Given the description of an element on the screen output the (x, y) to click on. 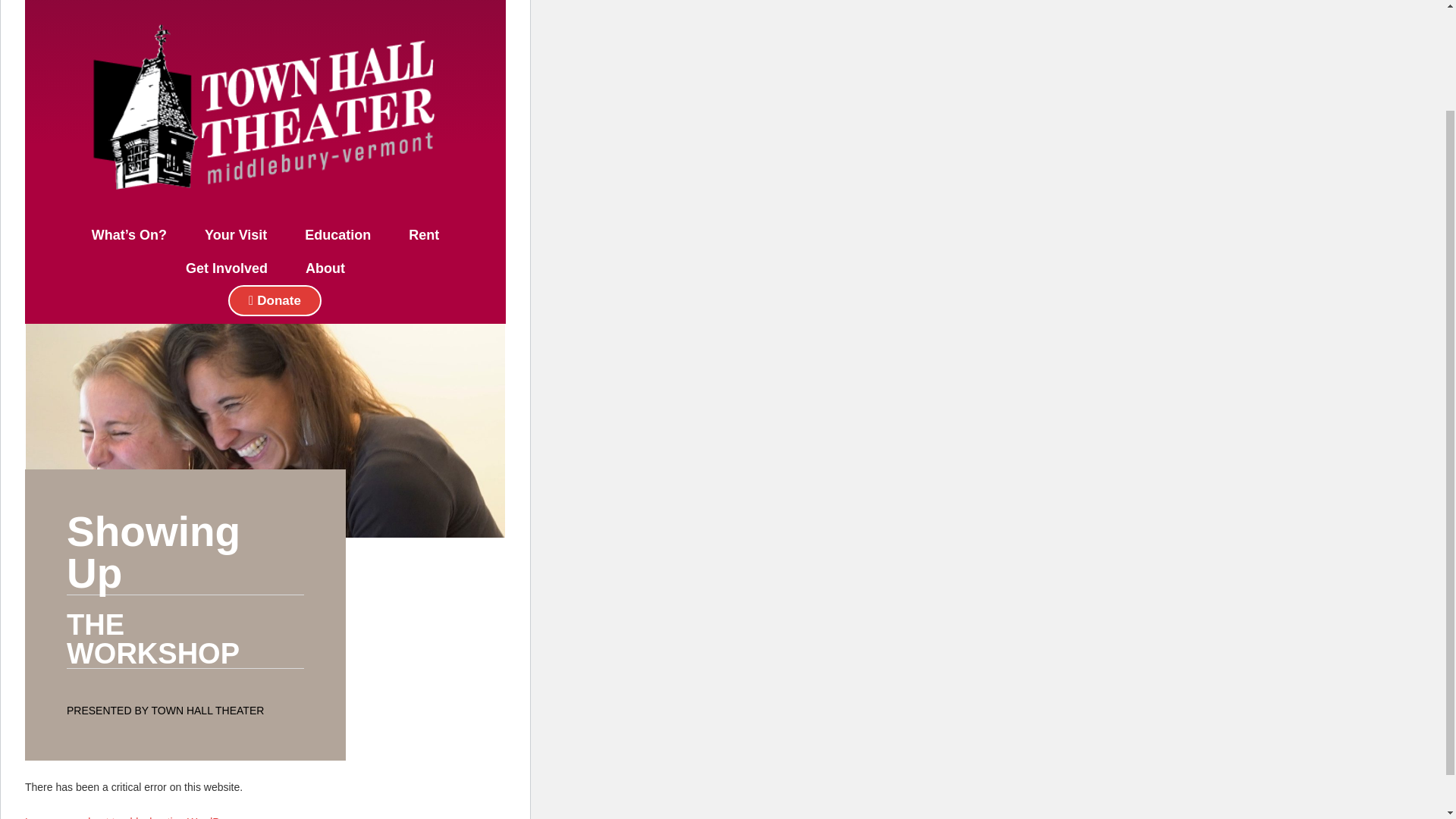
Rent (424, 234)
Education (337, 234)
Your Visit (235, 234)
Get Involved (226, 268)
About (325, 268)
